Given the description of an element on the screen output the (x, y) to click on. 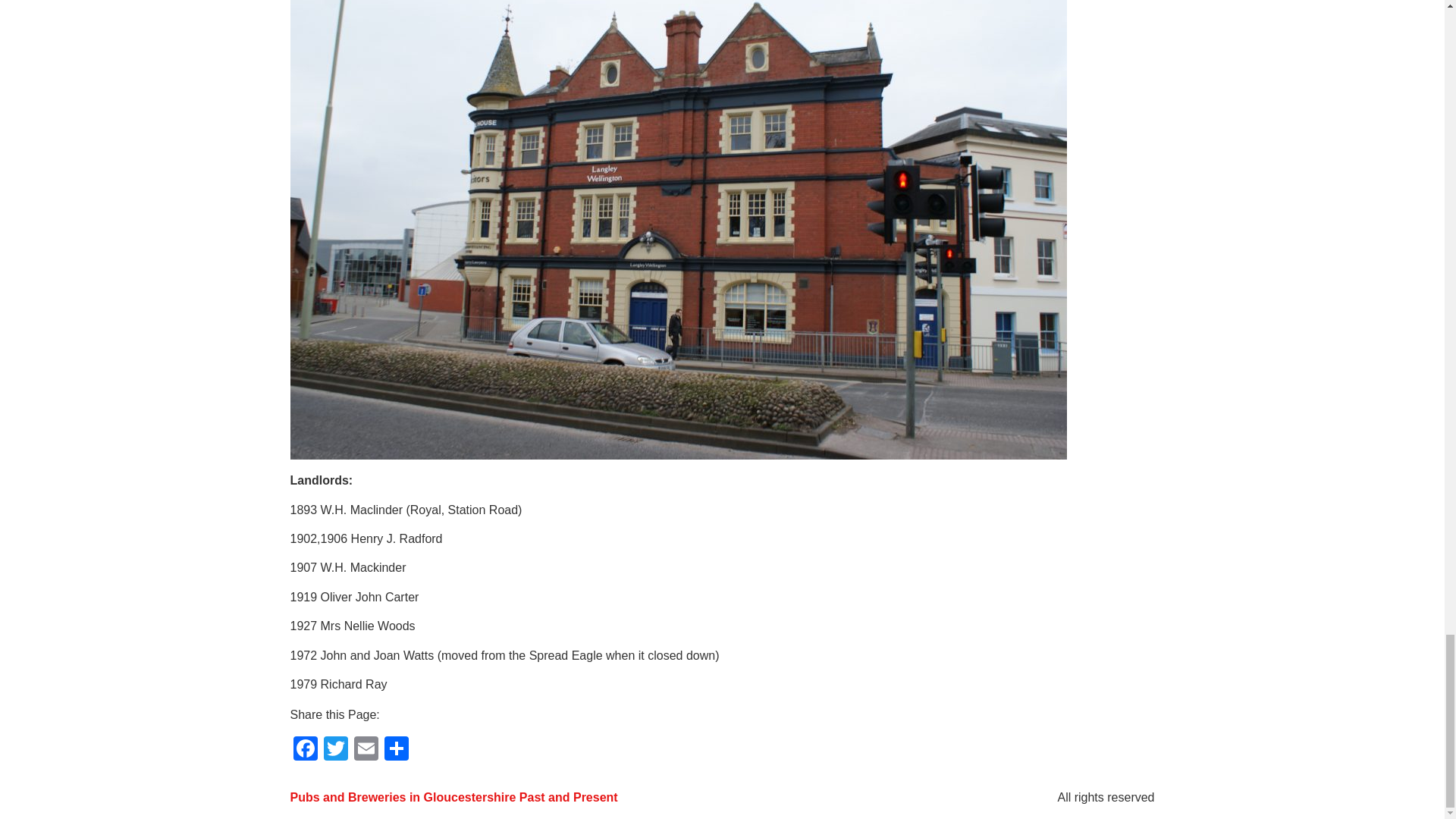
Twitter (335, 750)
Twitter (335, 750)
Email (365, 750)
Email (365, 750)
Facebook (304, 750)
Facebook (304, 750)
